Given the description of an element on the screen output the (x, y) to click on. 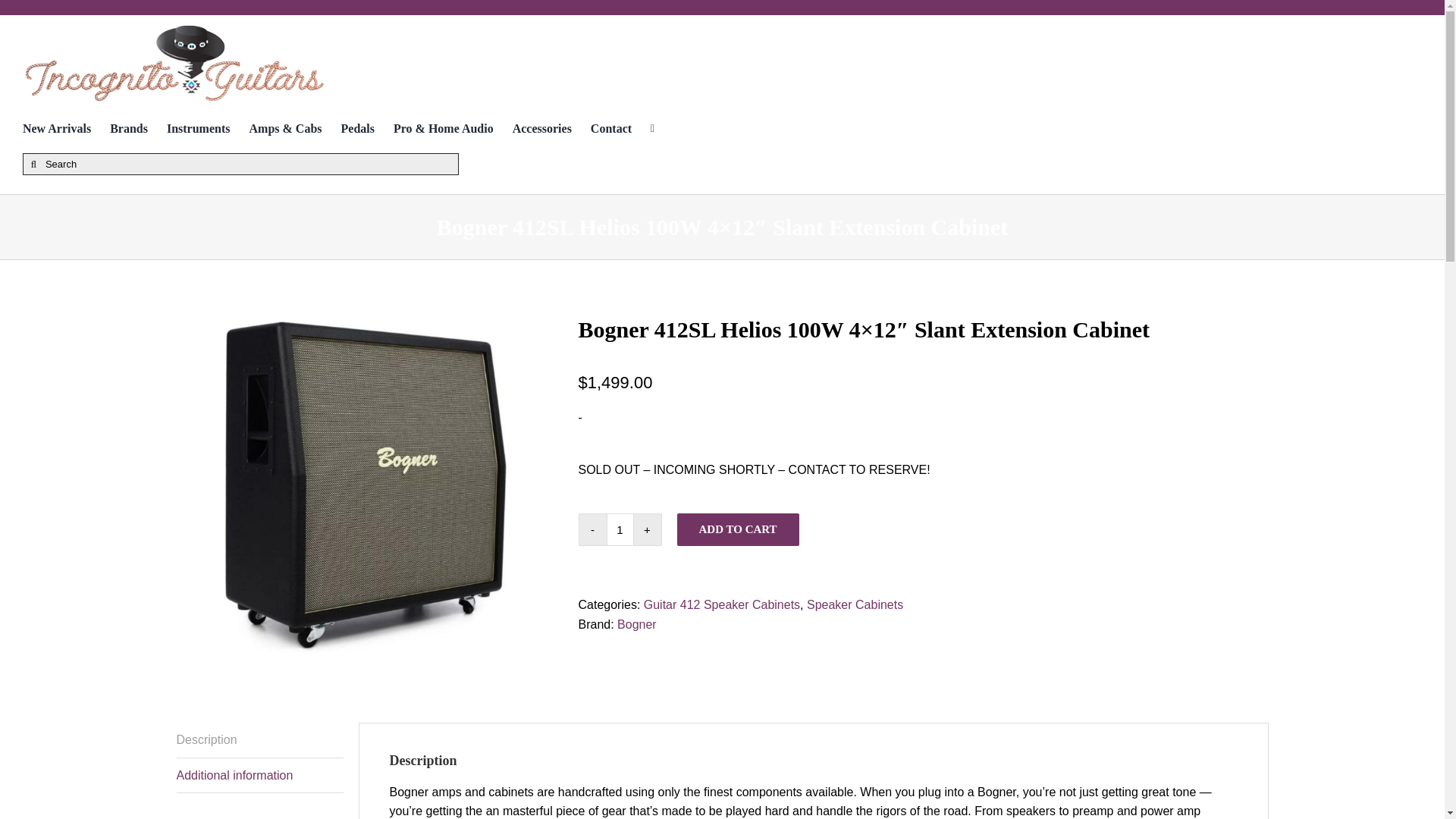
New Arrivals (66, 128)
Brands (138, 128)
